Given the description of an element on the screen output the (x, y) to click on. 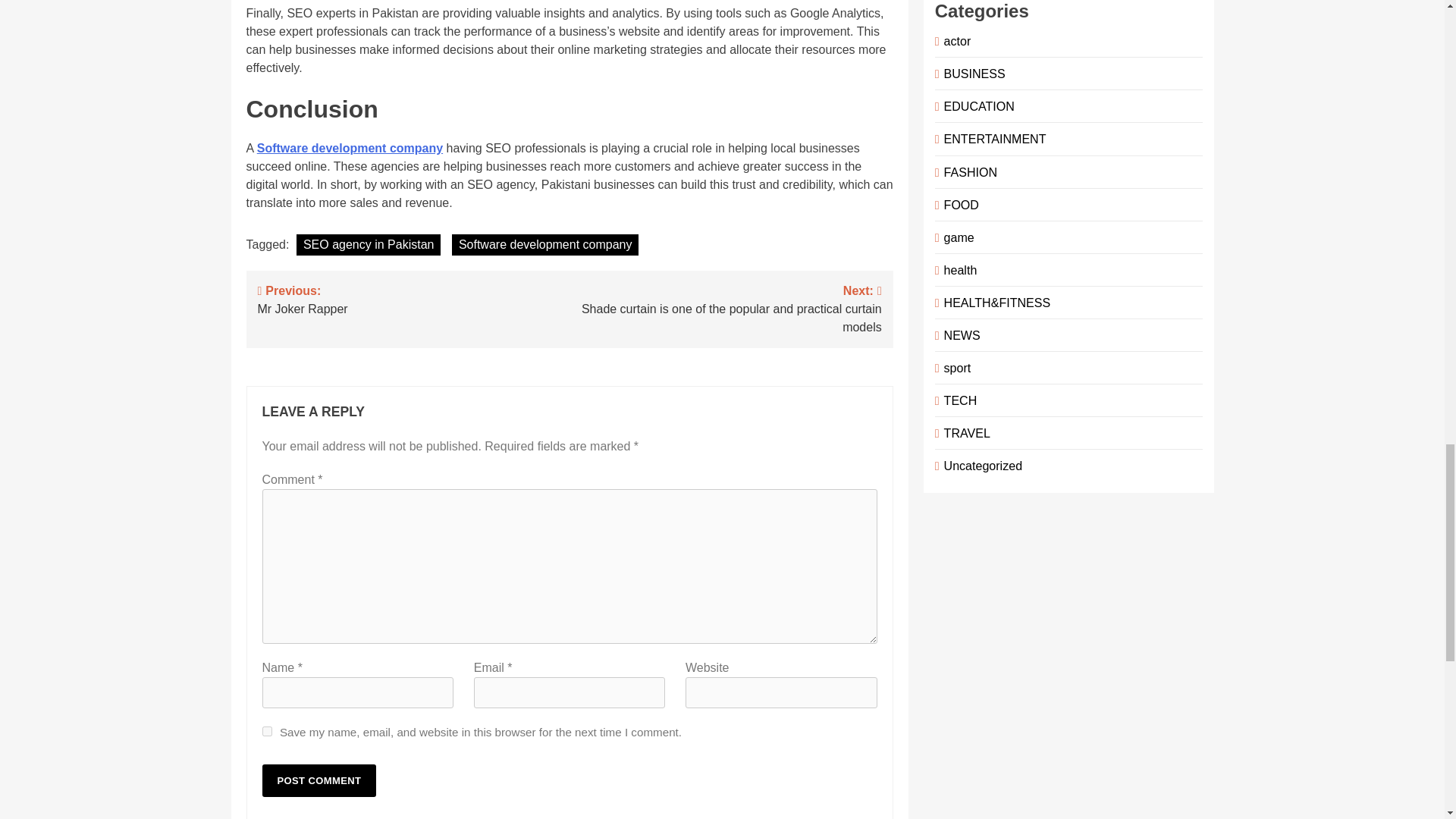
yes (267, 731)
Post Comment (319, 780)
SEO agency in Pakistan (413, 298)
Software development company (369, 244)
Post Comment (349, 147)
Software development company (319, 780)
